Given the description of an element on the screen output the (x, y) to click on. 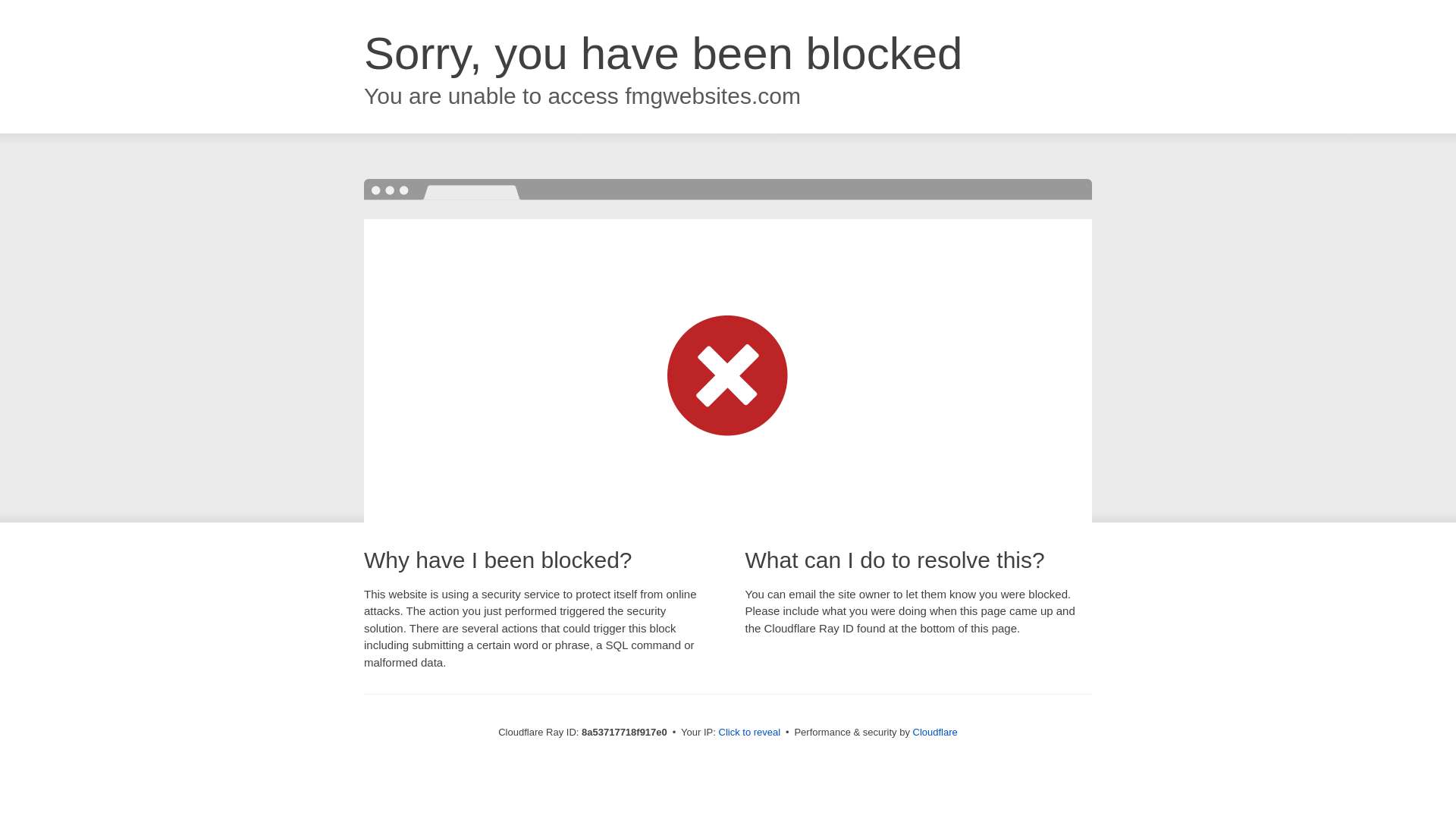
Cloudflare (935, 731)
Click to reveal (749, 732)
